Given the description of an element on the screen output the (x, y) to click on. 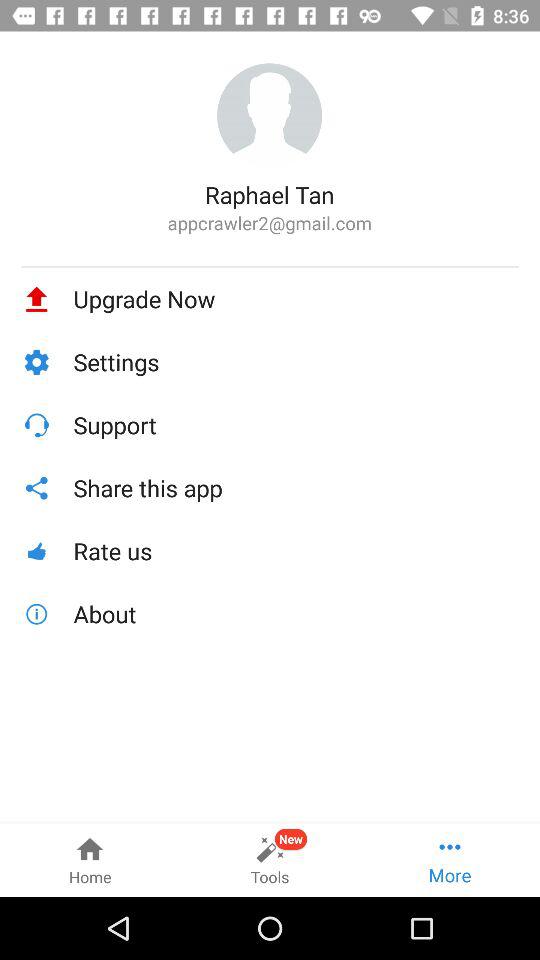
choose item above share this app item (296, 424)
